Given the description of an element on the screen output the (x, y) to click on. 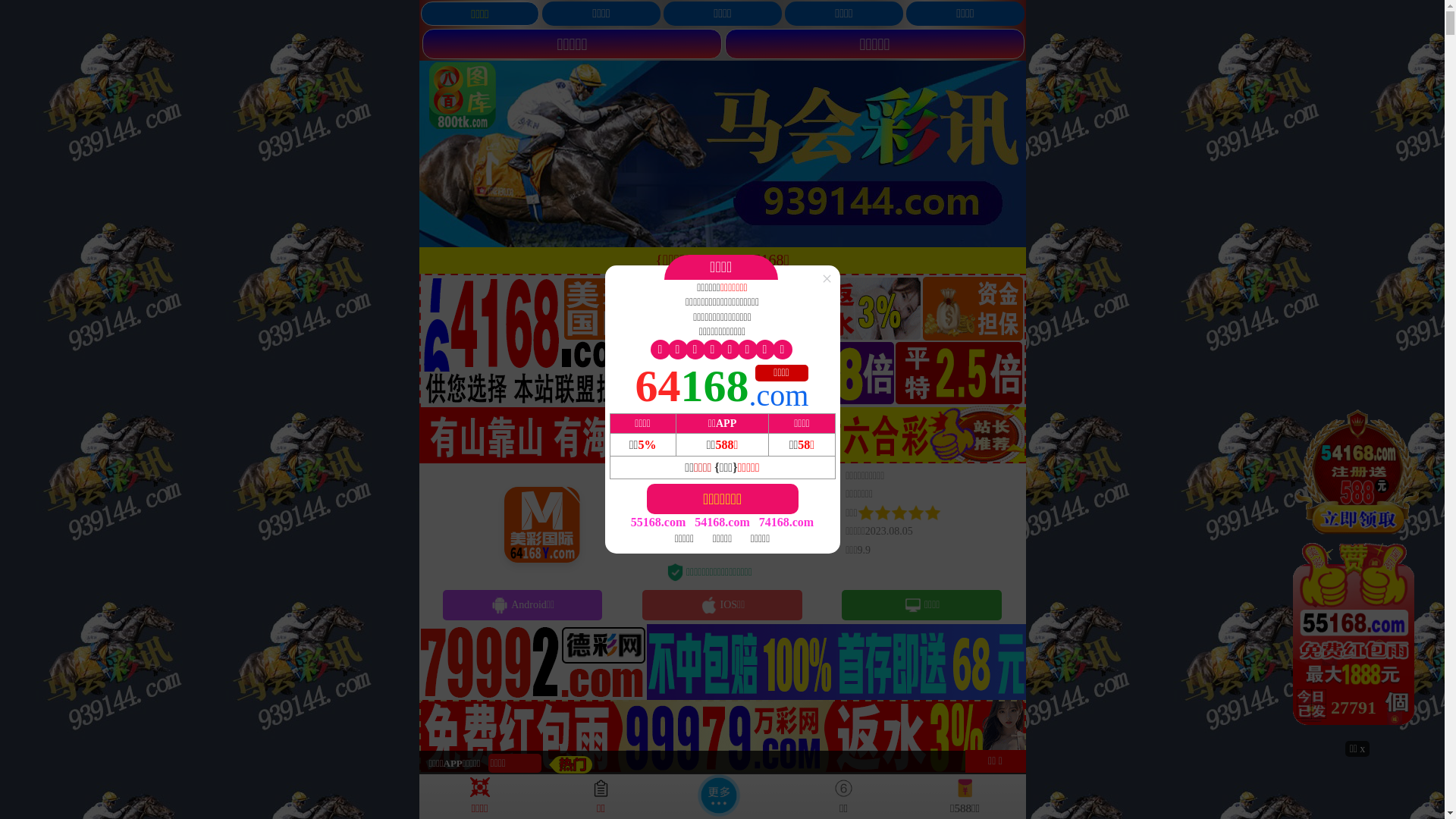
27959 Element type: text (1356, 572)
